Given the description of an element on the screen output the (x, y) to click on. 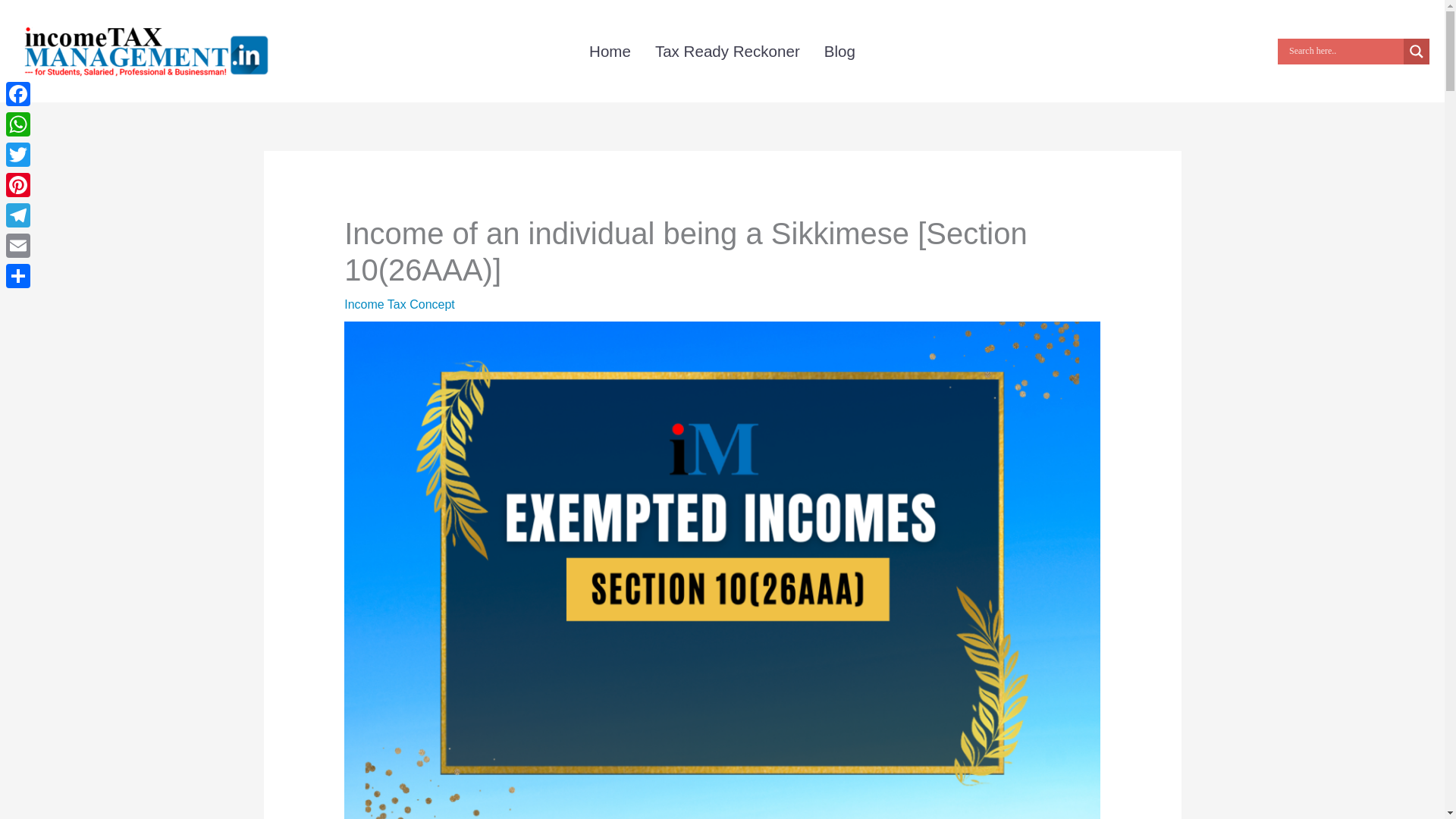
Income Tax Concept (398, 304)
Blog (839, 50)
Tax Ready Reckoner (727, 50)
Home (609, 50)
